Given the description of an element on the screen output the (x, y) to click on. 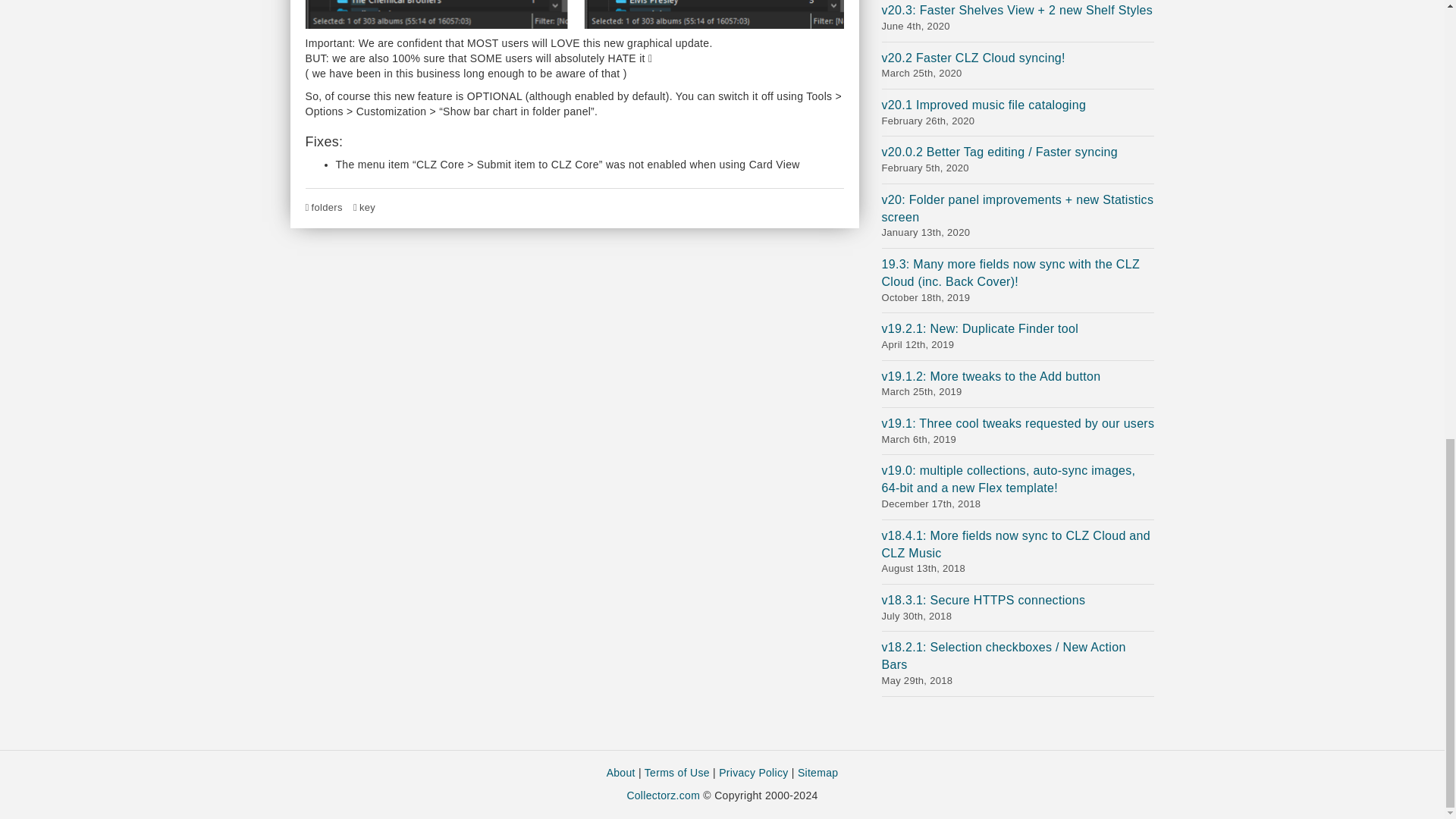
key (367, 206)
folders (326, 206)
